Given the description of an element on the screen output the (x, y) to click on. 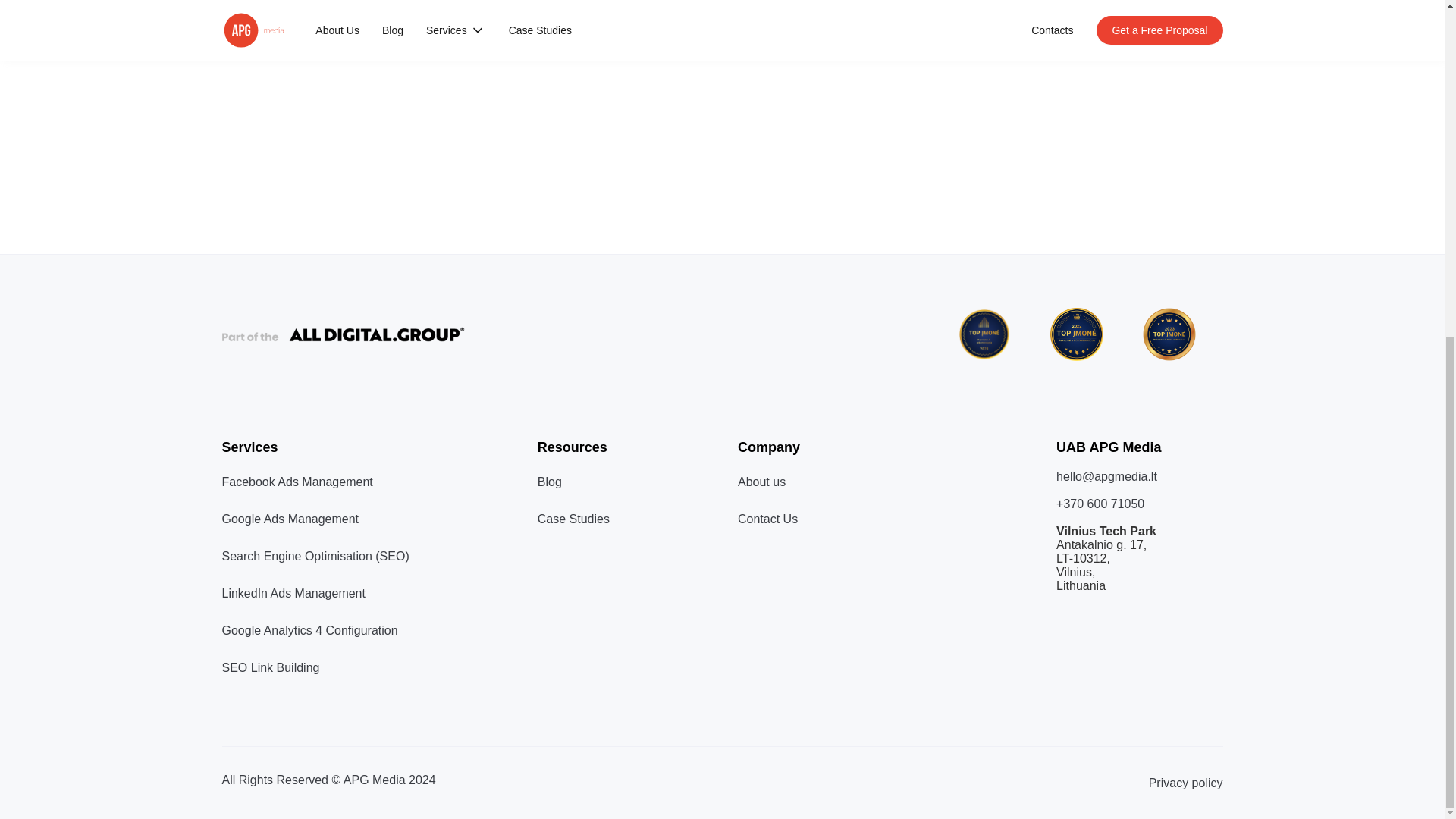
Contact Us (767, 518)
SEO Link Building (269, 667)
Facebook Ads Management (296, 481)
LinkedIn Ads Management (293, 593)
Google Ads Management (289, 518)
About us (762, 481)
Case Studies (573, 518)
Google Analytics 4 Configuration (309, 630)
Privacy policy (1185, 782)
Blog (549, 481)
